Given the description of an element on the screen output the (x, y) to click on. 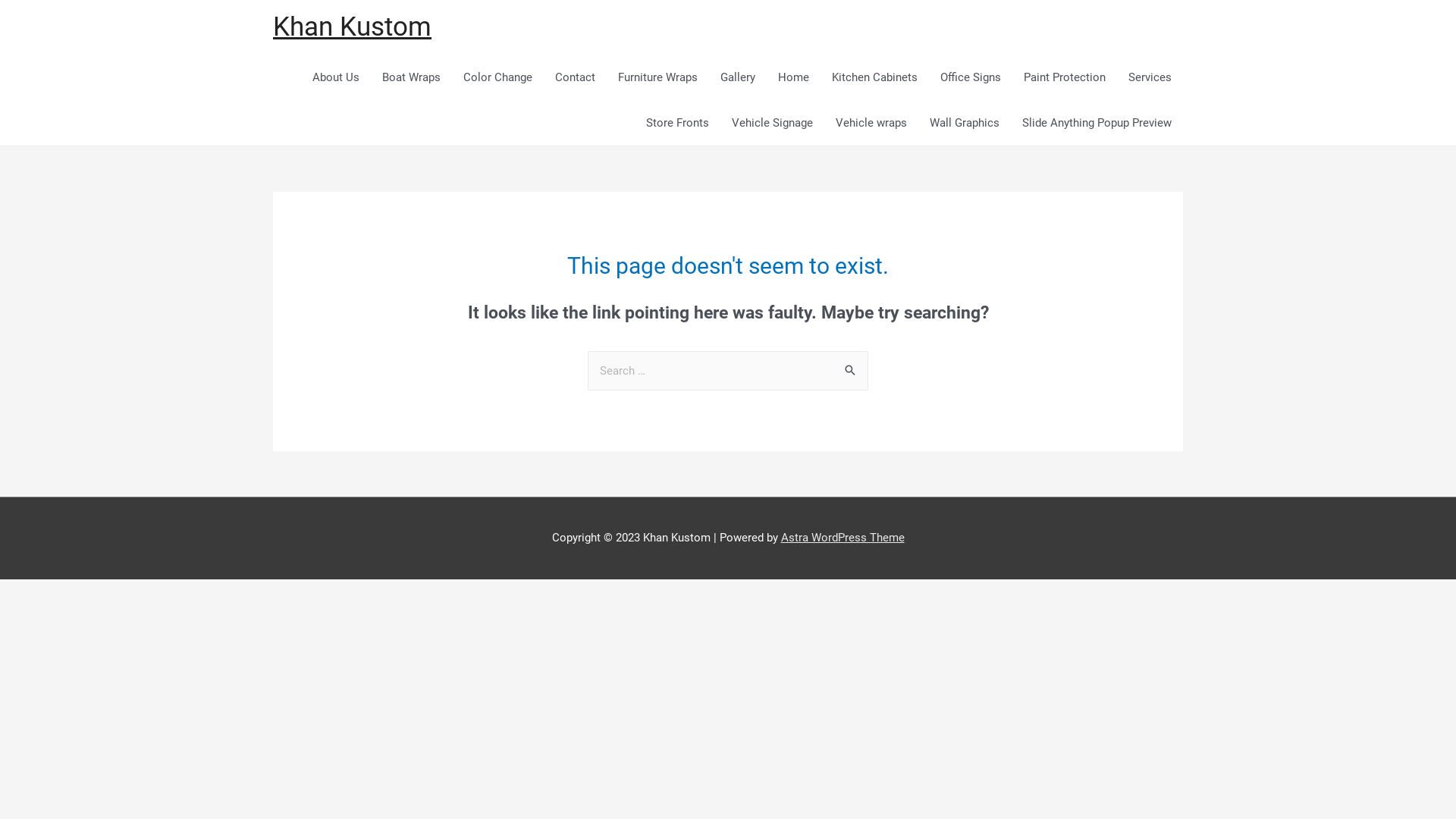
Vehicle Signage Element type: text (772, 122)
Astra WordPress Theme Element type: text (842, 537)
Home Element type: text (793, 77)
Kitchen Cabinets Element type: text (874, 77)
Khan Kustom Element type: text (352, 26)
Store Fronts Element type: text (677, 122)
Wall Graphics Element type: text (964, 122)
Gallery Element type: text (737, 77)
Search Element type: text (851, 366)
About Us Element type: text (335, 77)
Vehicle wraps Element type: text (871, 122)
Services Element type: text (1150, 77)
Boat Wraps Element type: text (410, 77)
Slide Anything Popup Preview Element type: text (1096, 122)
Contact Element type: text (574, 77)
Office Signs Element type: text (970, 77)
Furniture Wraps Element type: text (657, 77)
Color Change Element type: text (497, 77)
Paint Protection Element type: text (1064, 77)
